Given the description of an element on the screen output the (x, y) to click on. 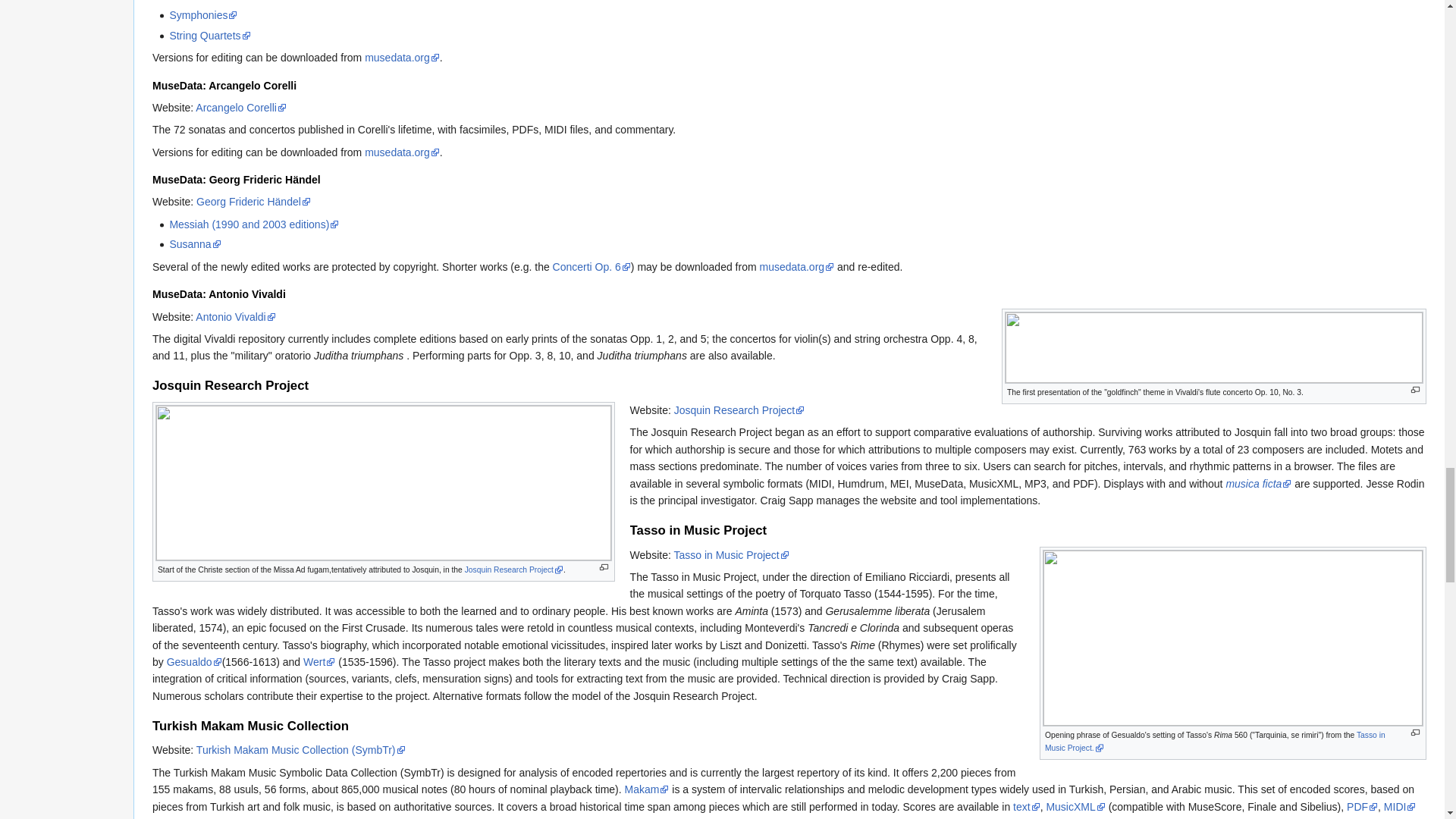
Enlarge (1415, 732)
Enlarge (604, 567)
Enlarge (1415, 389)
